Given the description of an element on the screen output the (x, y) to click on. 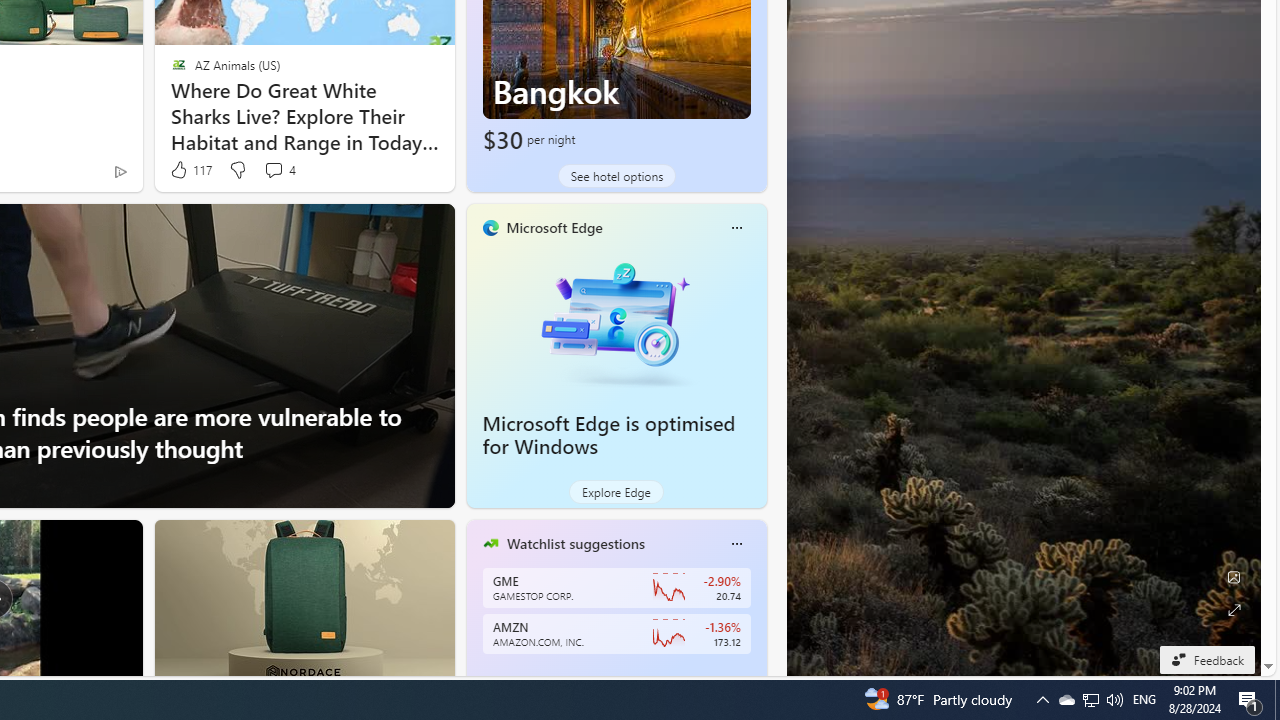
Explore Edge (616, 491)
Expand background (1233, 610)
Microsoft Edge is optimised for Windows (616, 321)
View comments 4 Comment (273, 169)
Watchlist suggestions (575, 543)
Edit Background (1233, 577)
See hotel options (615, 175)
Microsoft Edge is optimised for Windows (609, 435)
View comments 4 Comment (279, 170)
Microsoft Edge (553, 227)
